Given the description of an element on the screen output the (x, y) to click on. 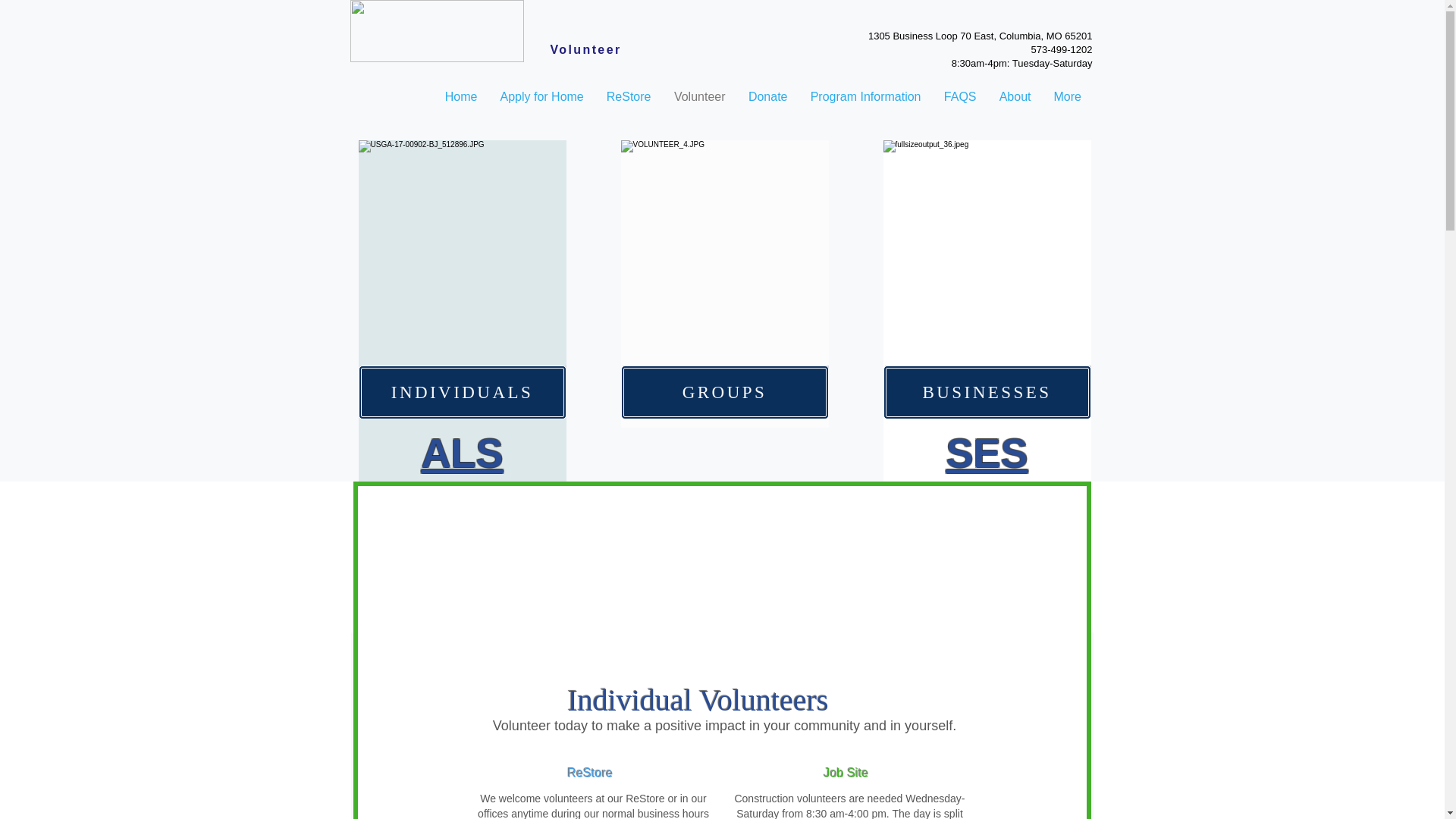
Apply for Home (540, 96)
INDIVIDUALS (462, 392)
GROUPS (723, 394)
Program Information (866, 96)
BUSINESSES (986, 423)
FAQS (960, 96)
About (1014, 96)
Home (461, 96)
Volunteer (699, 96)
BUSINESSES (986, 392)
